Given the description of an element on the screen output the (x, y) to click on. 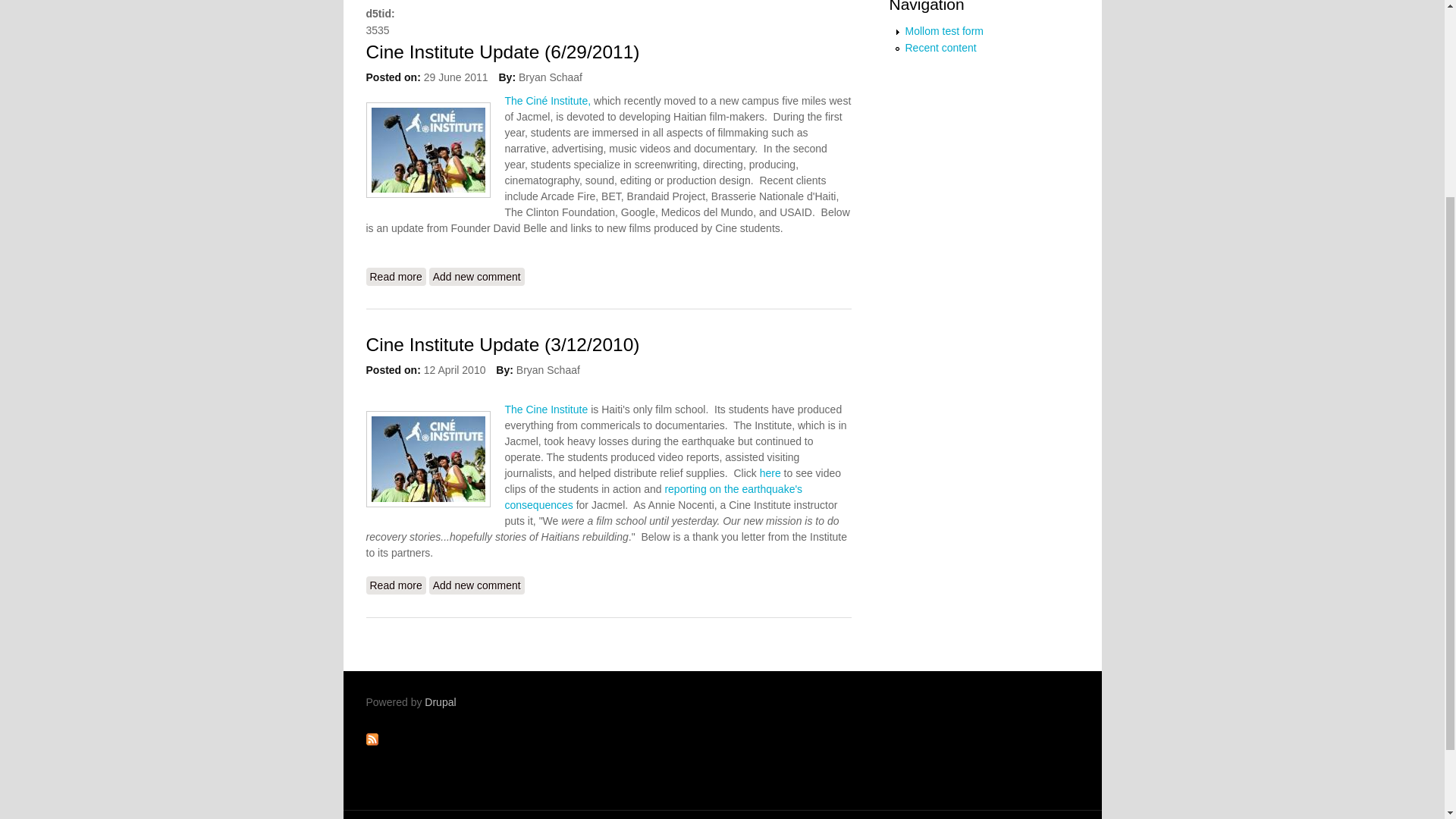
Drupal (440, 702)
here (770, 472)
Recent content (940, 47)
Mollom test form (944, 30)
reporting on the earthquake's consequences (654, 497)
The Cine Institute (548, 409)
Subscribe to Syndicate (371, 741)
Add a new comment to this page. (476, 585)
Add new comment (476, 276)
Add a new comment to this page. (476, 276)
Add new comment (476, 585)
